Given the description of an element on the screen output the (x, y) to click on. 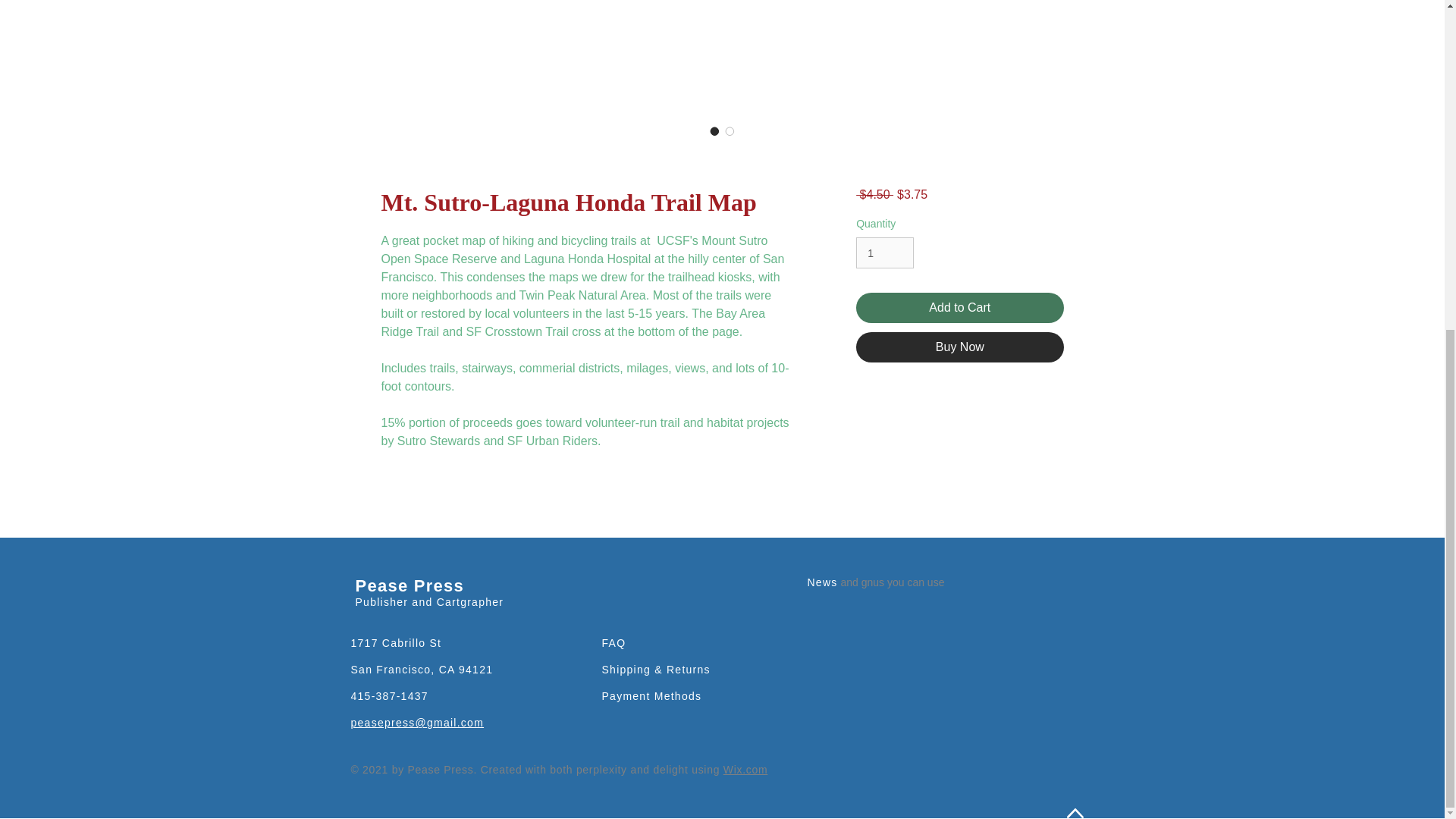
Wix.com (745, 769)
Add to Cart (959, 307)
FAQ (614, 643)
Buy Now (959, 347)
1 (885, 252)
Payment Methods (651, 695)
